Given the description of an element on the screen output the (x, y) to click on. 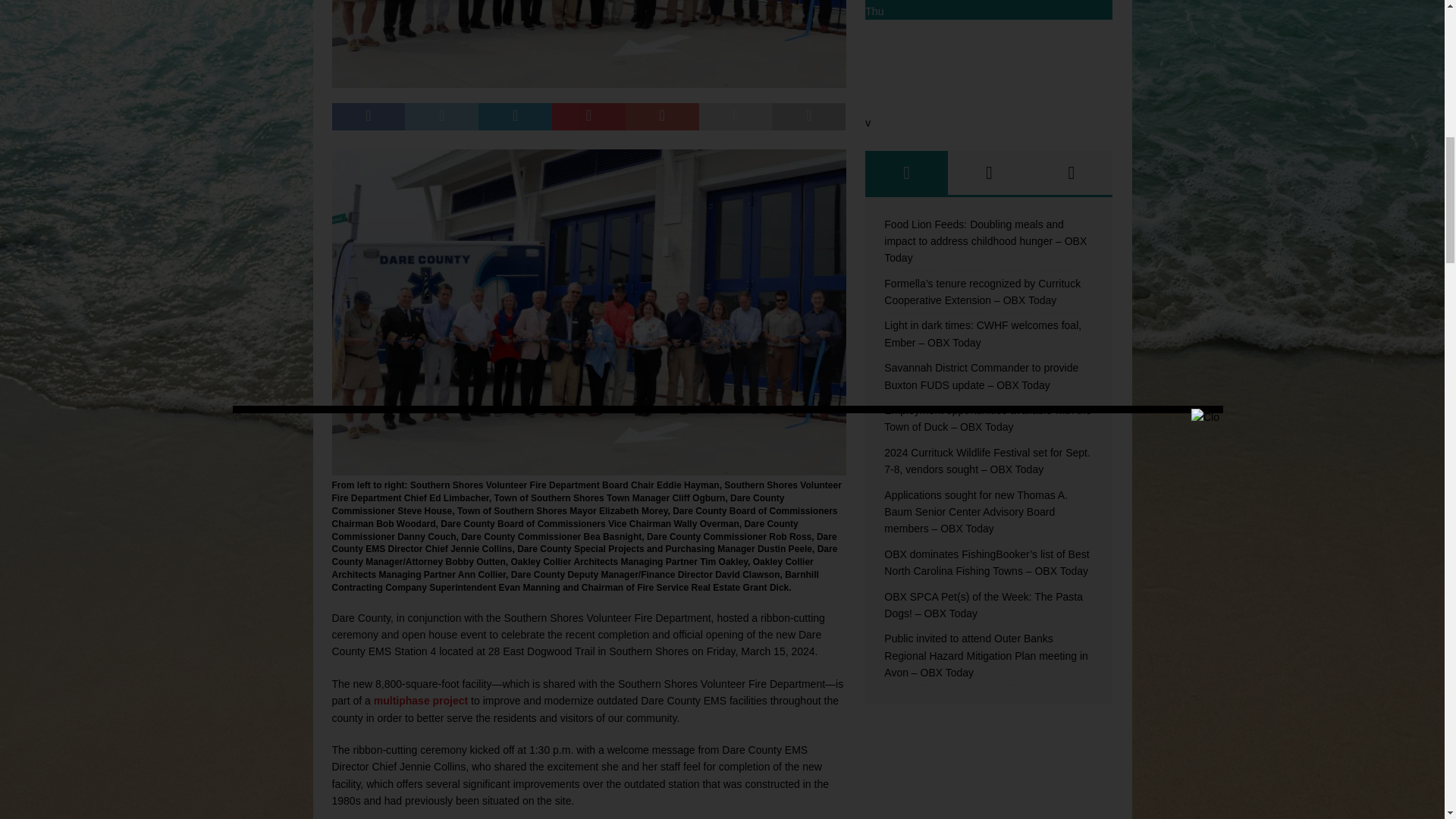
image (588, 467)
multiphase project (420, 700)
